Given the description of an element on the screen output the (x, y) to click on. 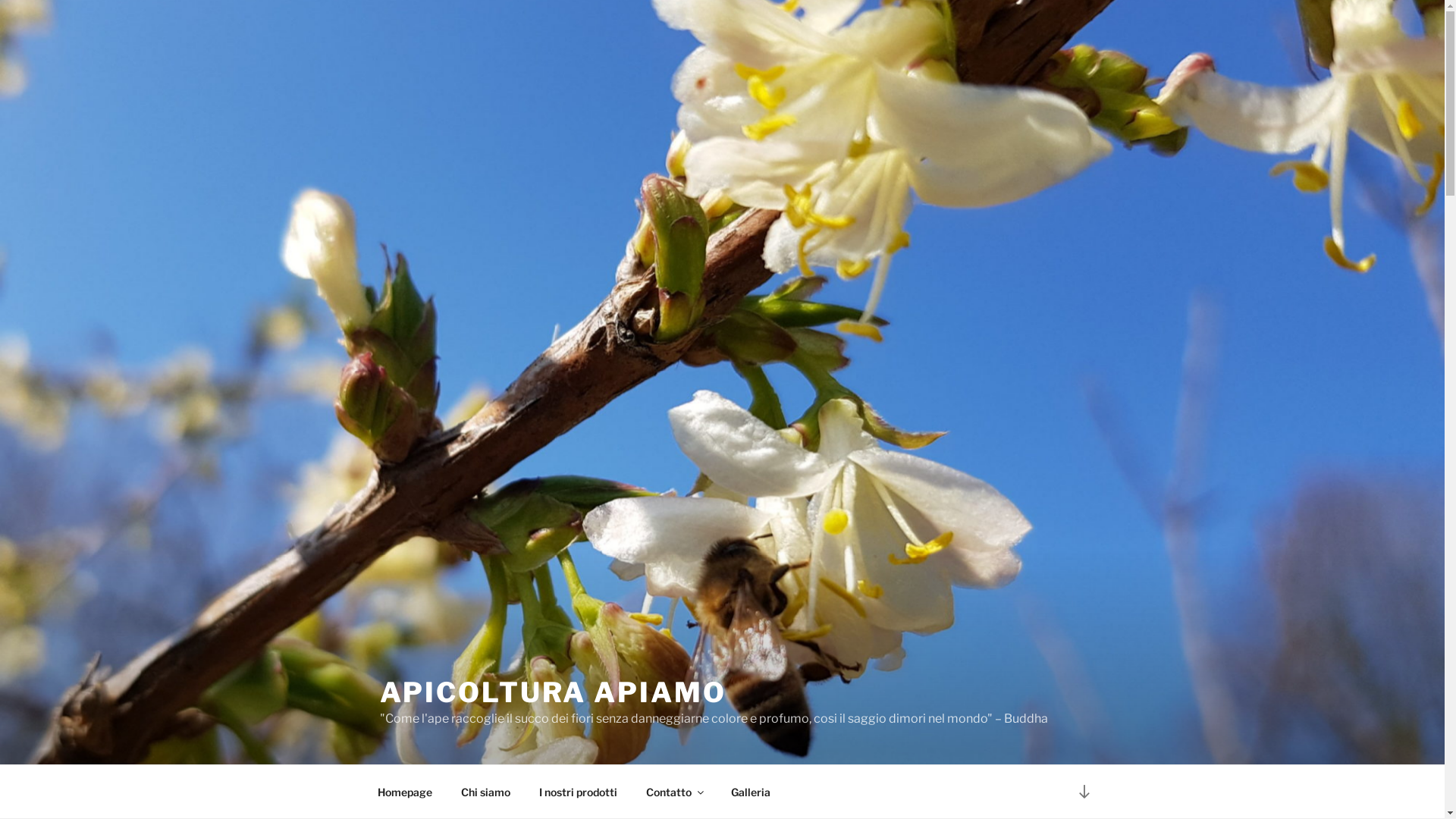
Galleria Element type: text (750, 791)
I nostri prodotti Element type: text (578, 791)
Chi siamo Element type: text (485, 791)
APICOLTURA APIAMO Element type: text (552, 692)
Contatto Element type: text (673, 791)
Homepage Element type: text (404, 791)
Vai al contenuto Element type: text (1083, 790)
Salta al contenuto Element type: text (0, 0)
